Given the description of an element on the screen output the (x, y) to click on. 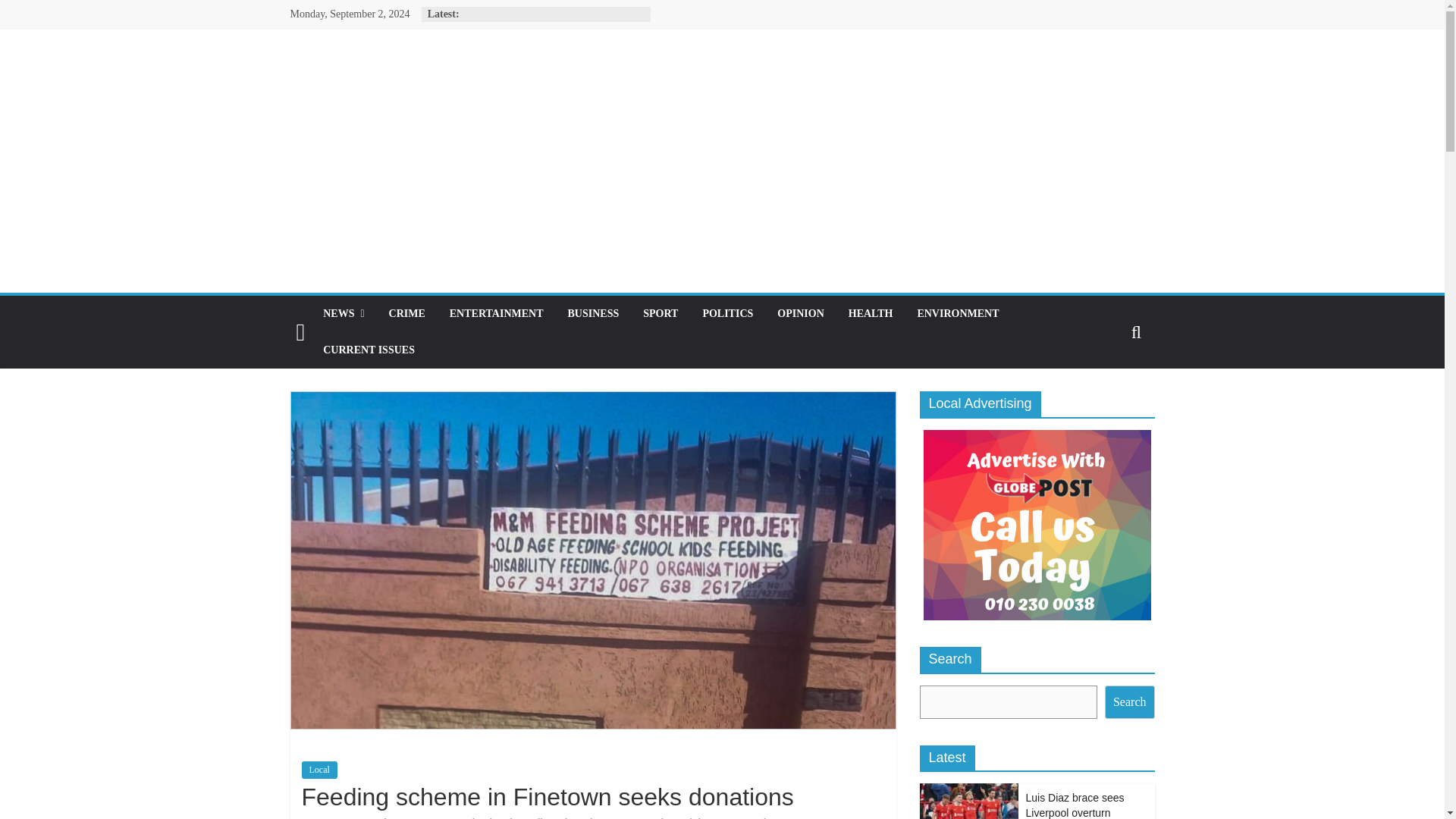
Admin (389, 817)
CURRENT ISSUES (368, 350)
OPINION (800, 313)
ENVIRONMENT (957, 313)
ENTERTAINMENT (497, 313)
HEALTH (870, 313)
POLITICS (727, 313)
SPORT (660, 313)
Mathapelo and Mamello Feeding Scheme Projects (550, 817)
May 4, 2023 (328, 817)
